Given the description of an element on the screen output the (x, y) to click on. 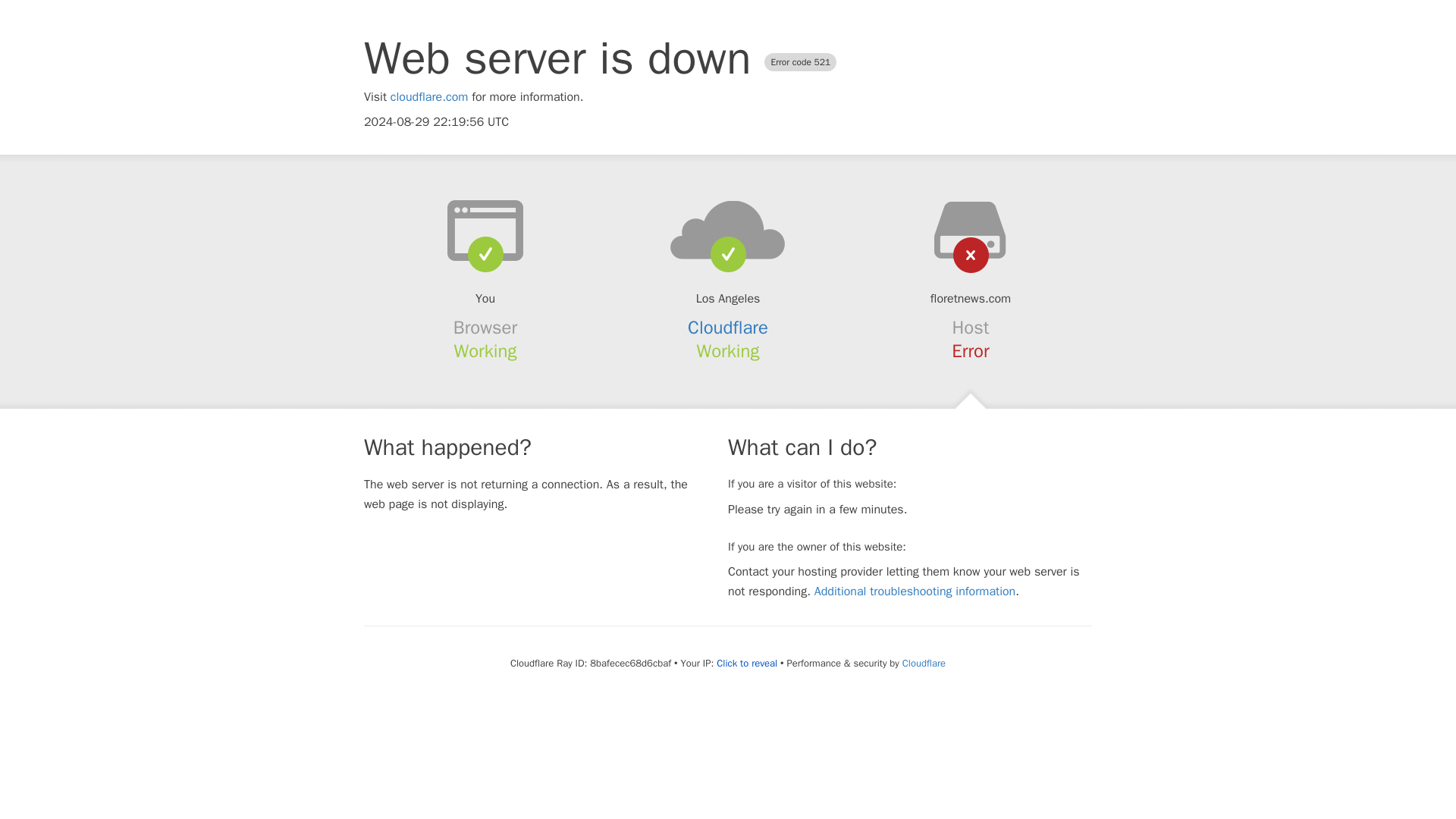
Additional troubleshooting information (913, 590)
cloudflare.com (429, 96)
Click to reveal (746, 663)
Cloudflare (727, 327)
Cloudflare (923, 662)
